Given the description of an element on the screen output the (x, y) to click on. 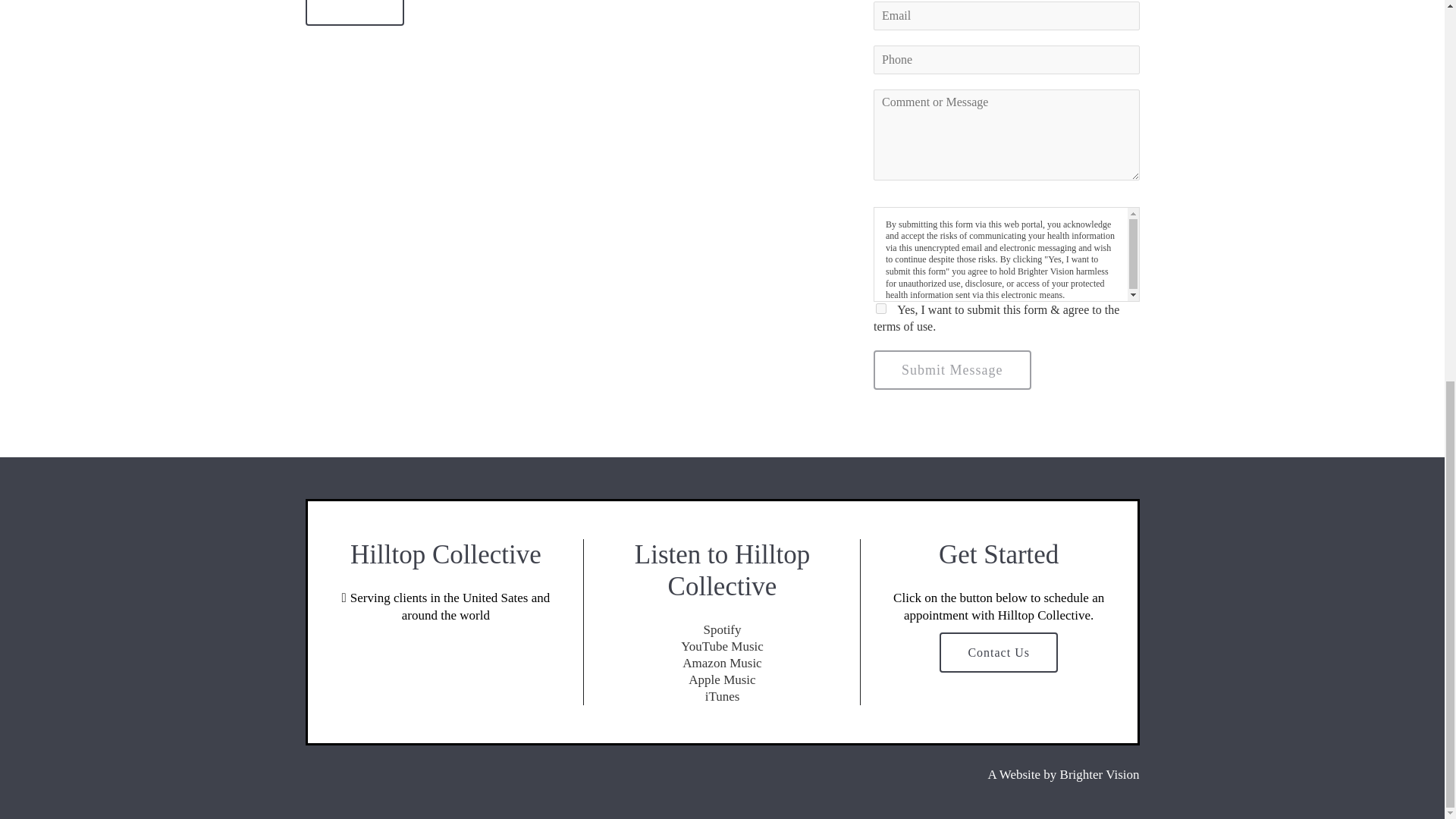
Submit Message (951, 369)
Spotify (722, 629)
iTunes (721, 696)
Apple Music (721, 679)
YouTube Music (721, 646)
Brighter Vision (1099, 774)
Amazon Music (721, 663)
Contact Us (998, 652)
Contact (354, 12)
